Given the description of an element on the screen output the (x, y) to click on. 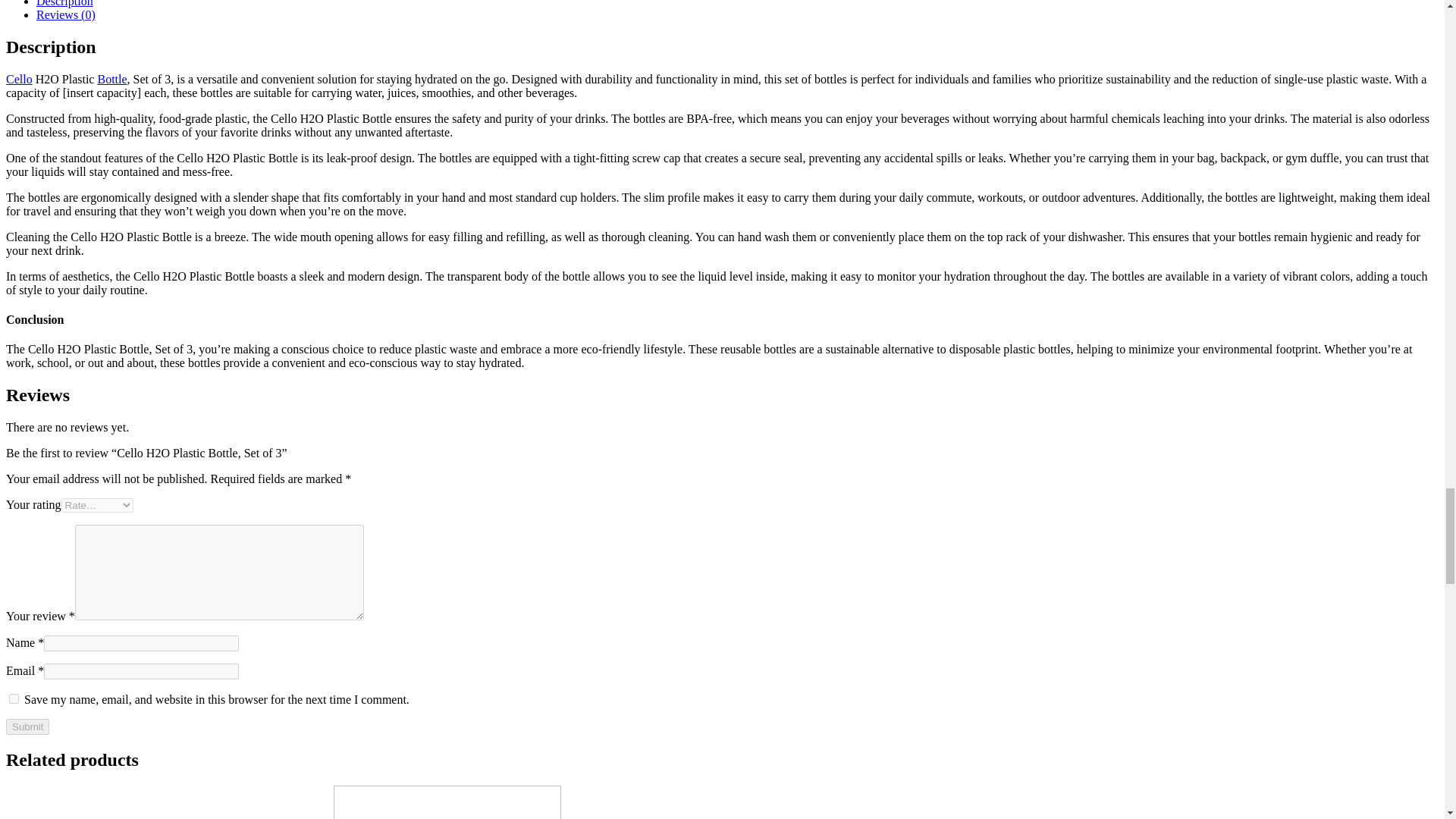
yes (13, 698)
